Given the description of an element on the screen output the (x, y) to click on. 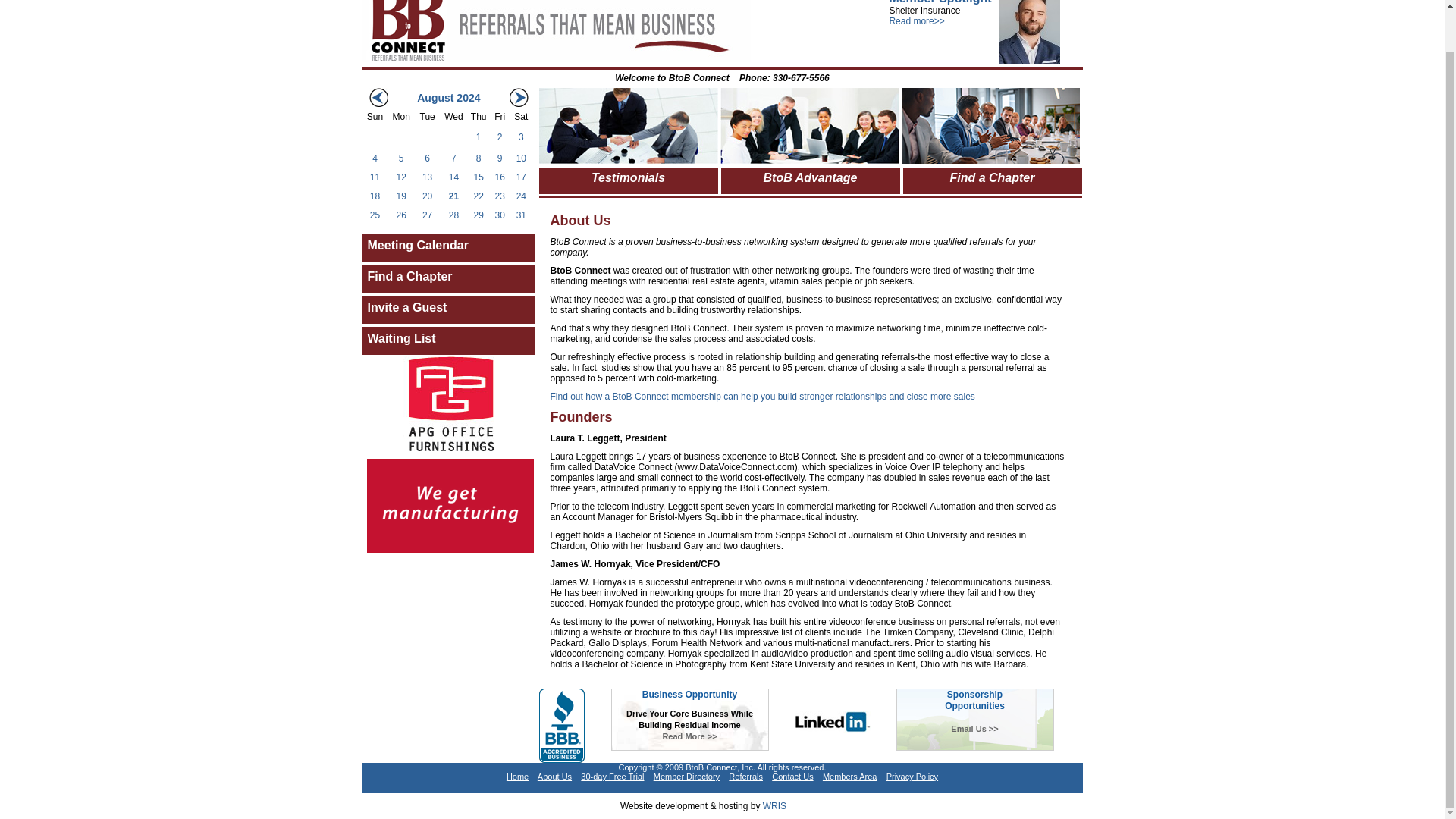
10 (520, 158)
12 (401, 176)
11 (374, 176)
Member Spotlight (939, 2)
August 2024 (448, 97)
